Given the description of an element on the screen output the (x, y) to click on. 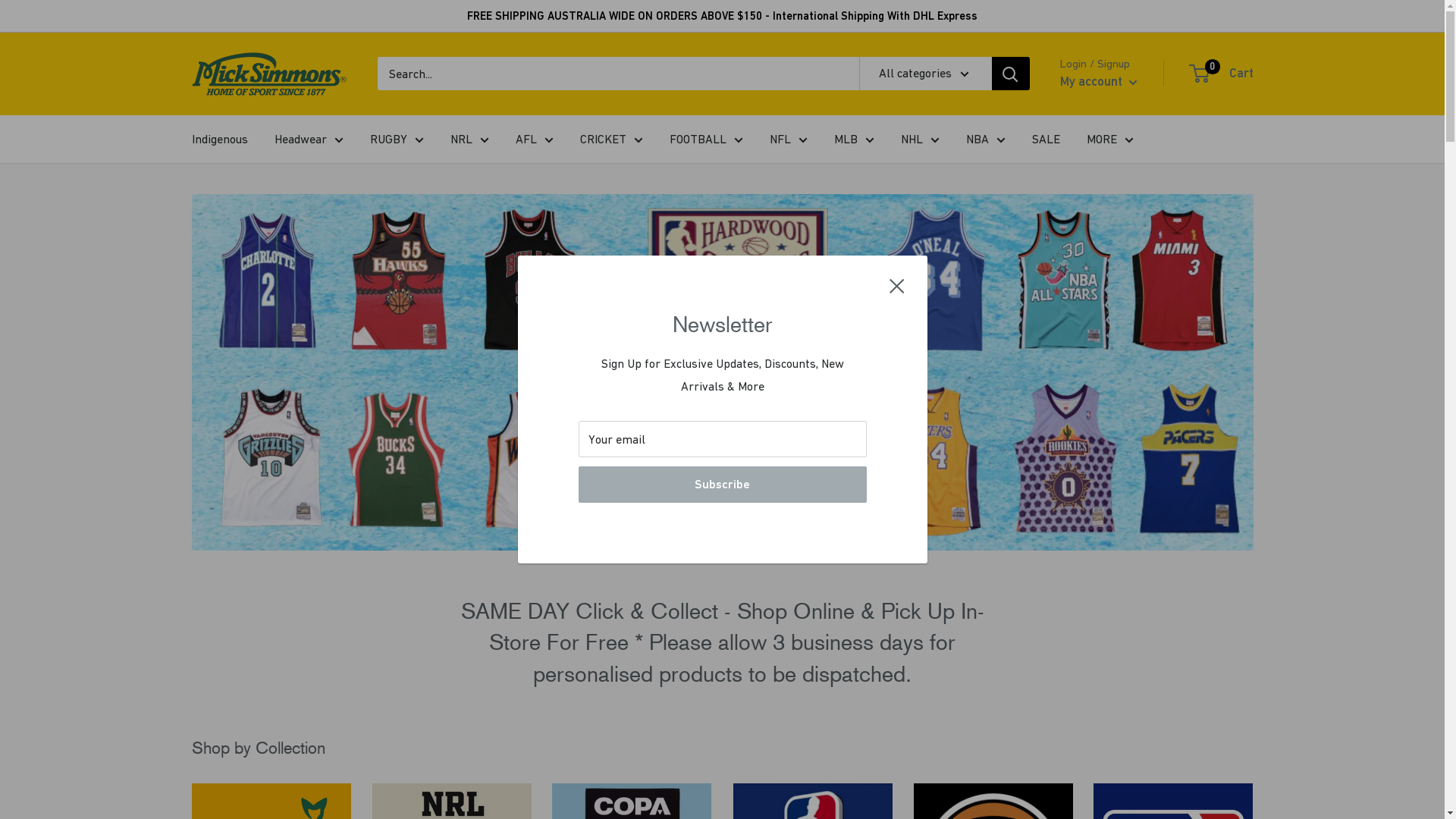
Headwear Element type: text (308, 139)
MLB Element type: text (854, 139)
AFL Element type: text (534, 139)
NBA Element type: text (985, 139)
FOOTBALL Element type: text (705, 139)
Subscribe Element type: text (721, 484)
NHL Element type: text (919, 139)
0
Cart Element type: text (1221, 73)
SALE Element type: text (1045, 139)
My account Element type: text (1098, 81)
Indigenous Element type: text (219, 139)
CRICKET Element type: text (610, 139)
NRL Element type: text (469, 139)
RUGBY Element type: text (396, 139)
MORE Element type: text (1108, 139)
NFL Element type: text (787, 139)
